Given the description of an element on the screen output the (x, y) to click on. 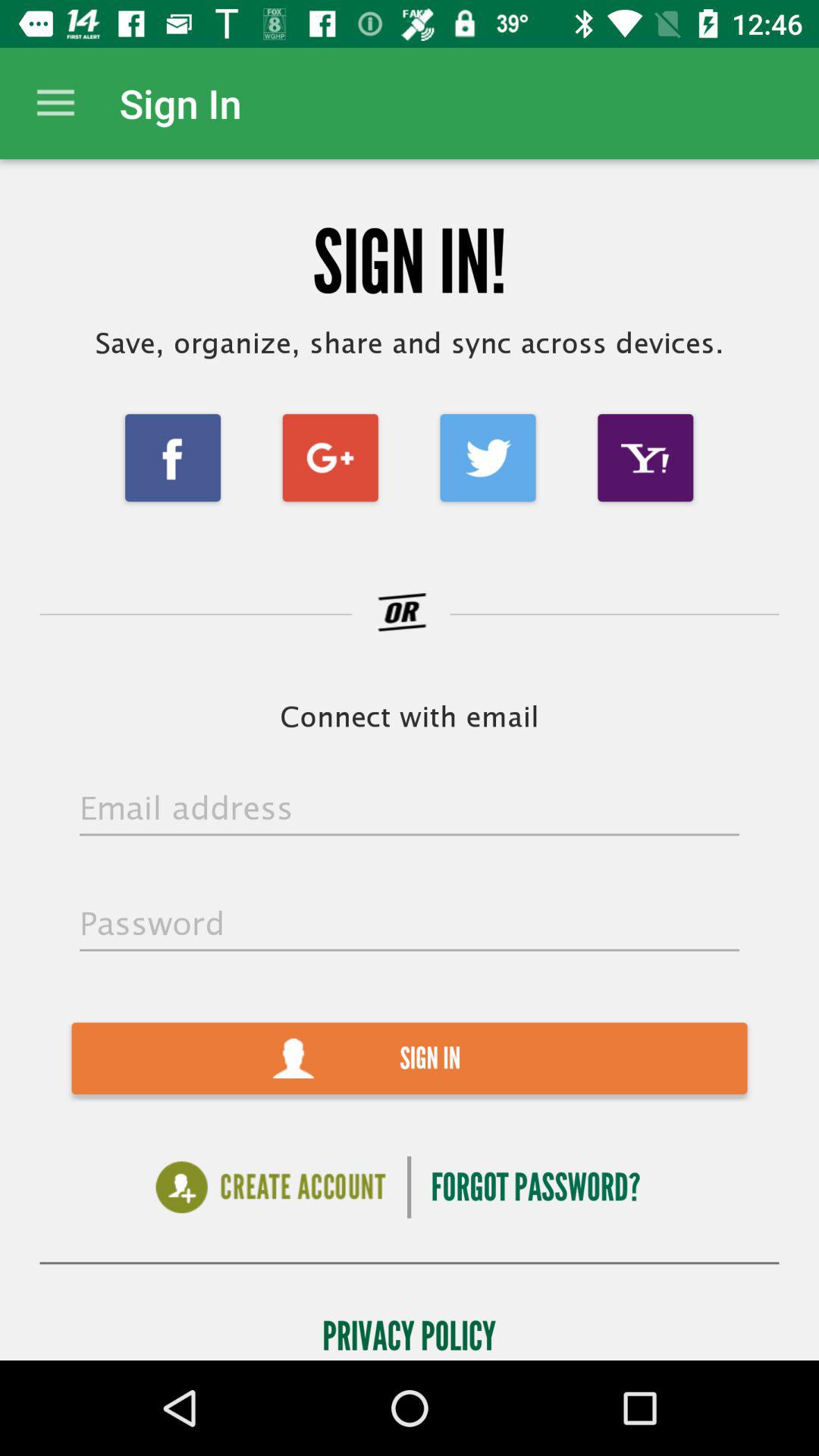
choose item below sign in icon (535, 1187)
